Given the description of an element on the screen output the (x, y) to click on. 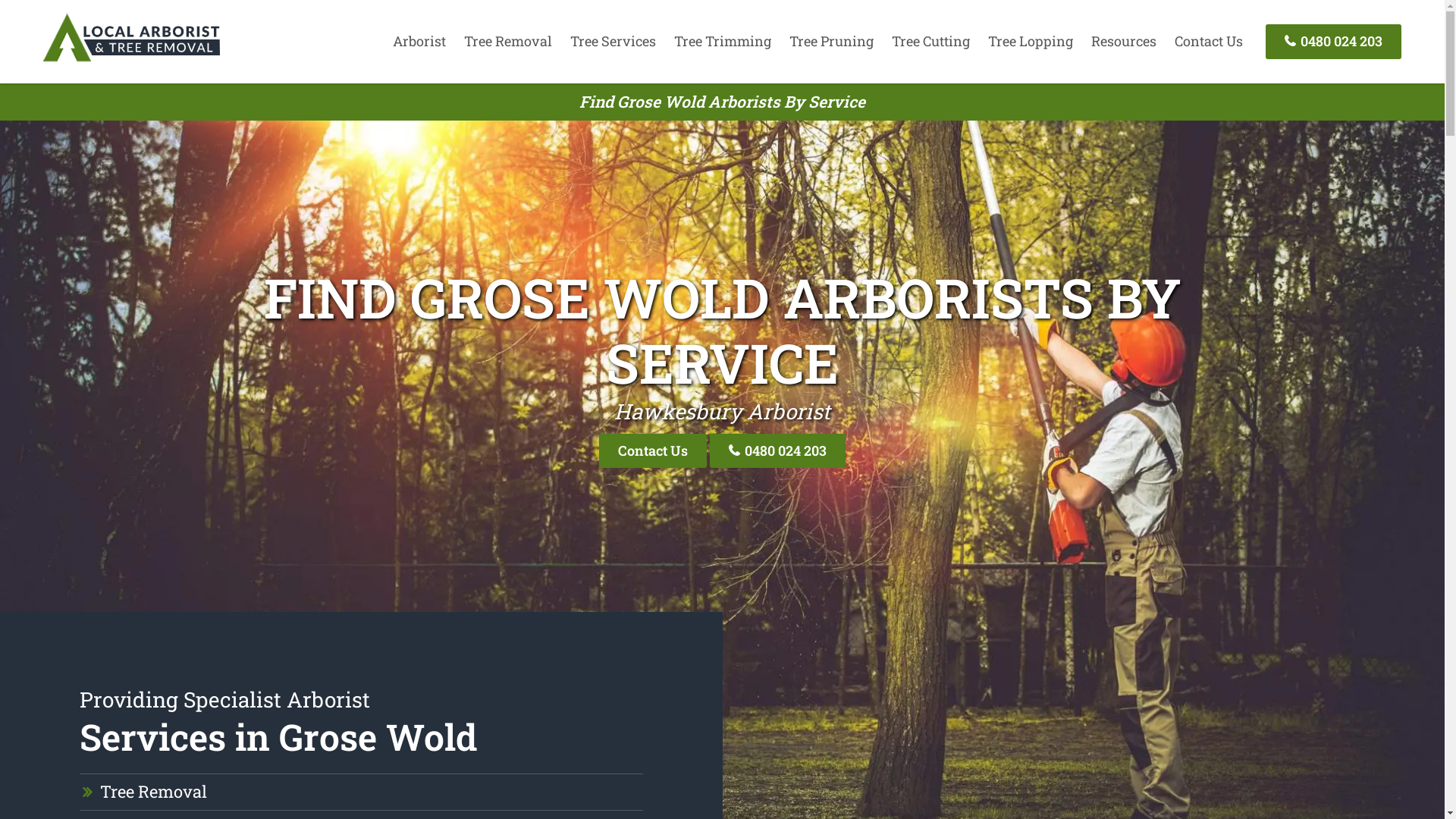
Contact Us Element type: text (652, 450)
Tree Trimming Element type: text (722, 40)
Tree Cutting Element type: text (930, 40)
Local Arborists & Tree Removal Element type: hover (131, 60)
0480 024 203 Element type: text (1333, 41)
Tree Lopping Element type: text (1030, 40)
Tree Pruning Element type: text (831, 40)
Resources Element type: text (1123, 40)
Contact Us Element type: text (1208, 40)
0480 024 203 Element type: text (777, 450)
Tree Services Element type: text (612, 40)
Arborist Element type: text (419, 40)
Tree Removal Element type: text (507, 40)
Tree Removal Element type: text (153, 791)
